Given the description of an element on the screen output the (x, y) to click on. 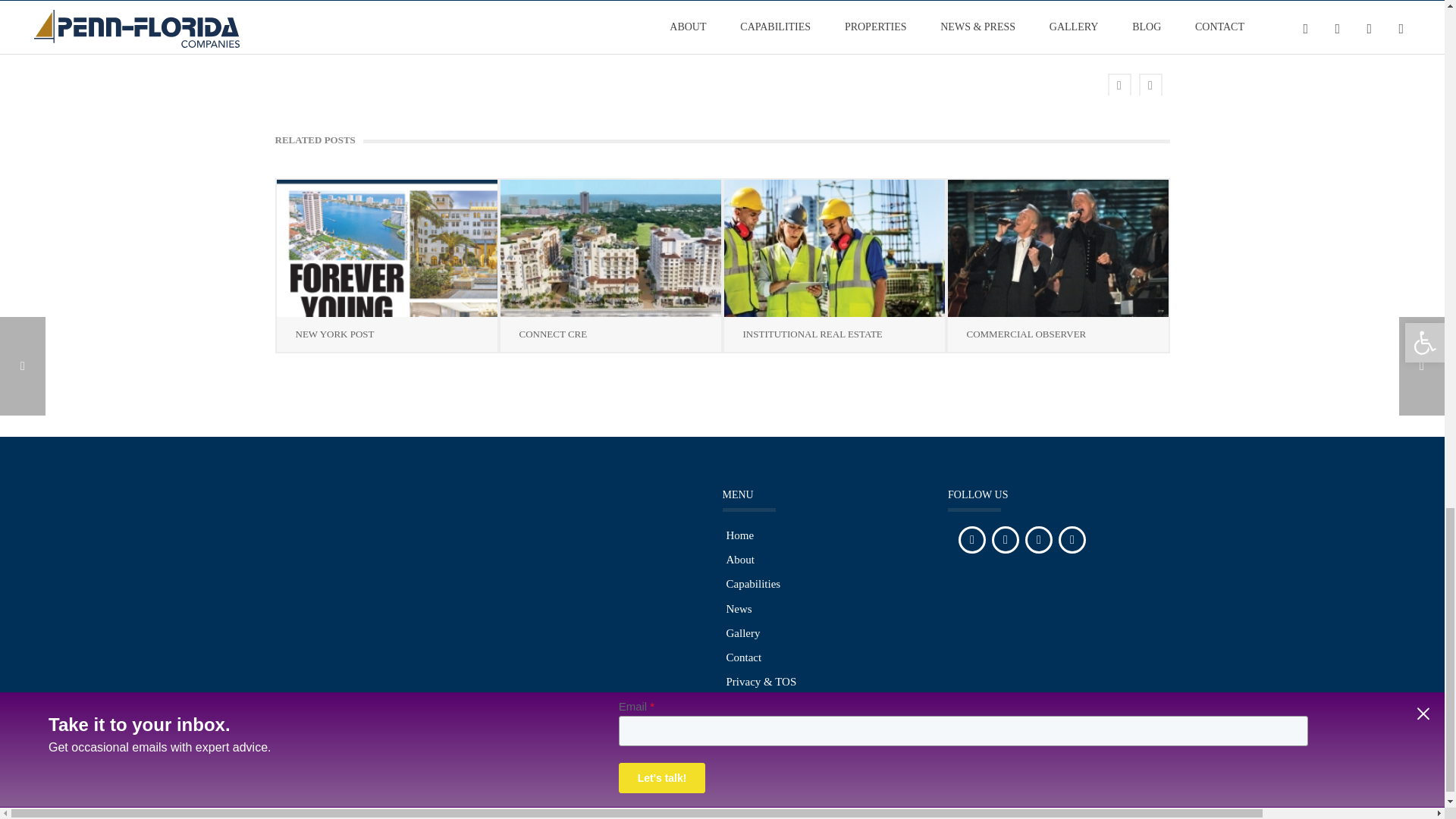
Follow Us on instagram (1005, 539)
COMMERCIAL OBSERVER (1058, 247)
Follow Us on linkedin (1038, 539)
NEW YORK POST (386, 247)
Follow Us on facebook (971, 539)
INSTITUTIONAL REAL ESTATE (833, 247)
Follow Us on youtube (1072, 539)
CONNECT CRE (610, 247)
